Given the description of an element on the screen output the (x, y) to click on. 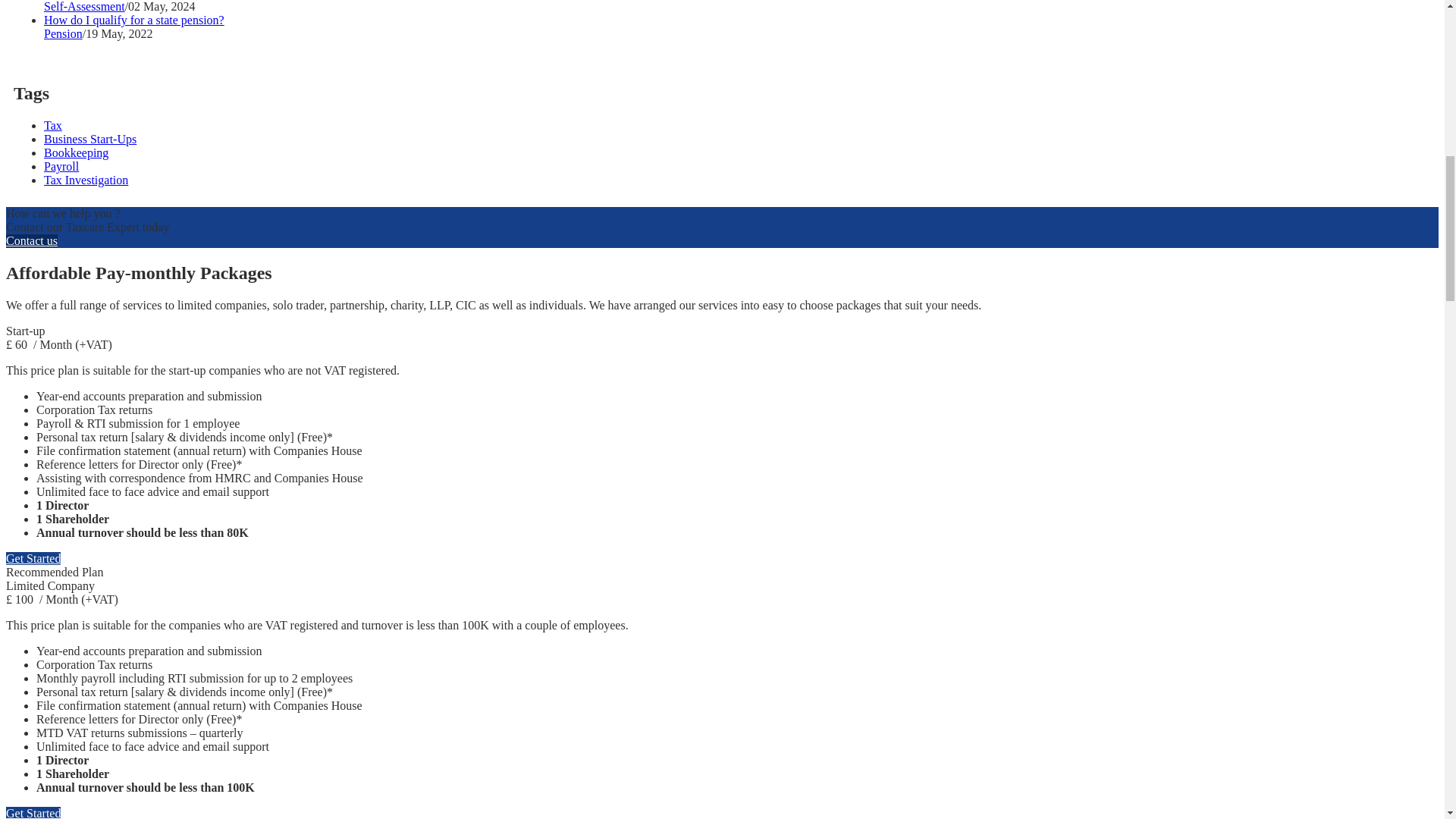
Bookkeeping (75, 152)
Business Start-Ups (89, 138)
How do I qualify for a state pension? (133, 19)
Pension (62, 33)
Tax (52, 124)
Self-Assessment (84, 6)
